Given the description of an element on the screen output the (x, y) to click on. 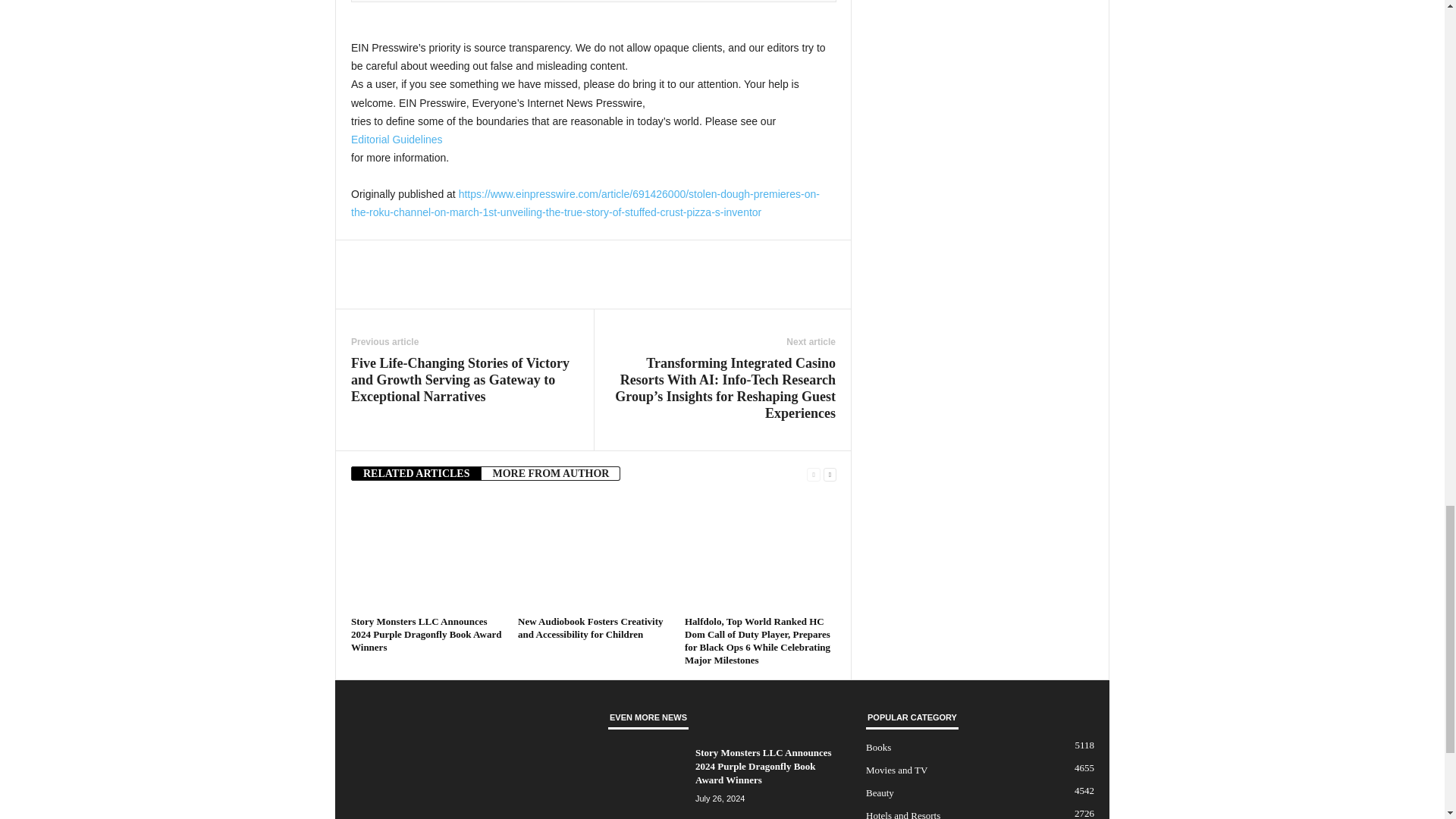
Editorial Guidelines (396, 139)
